Given the description of an element on the screen output the (x, y) to click on. 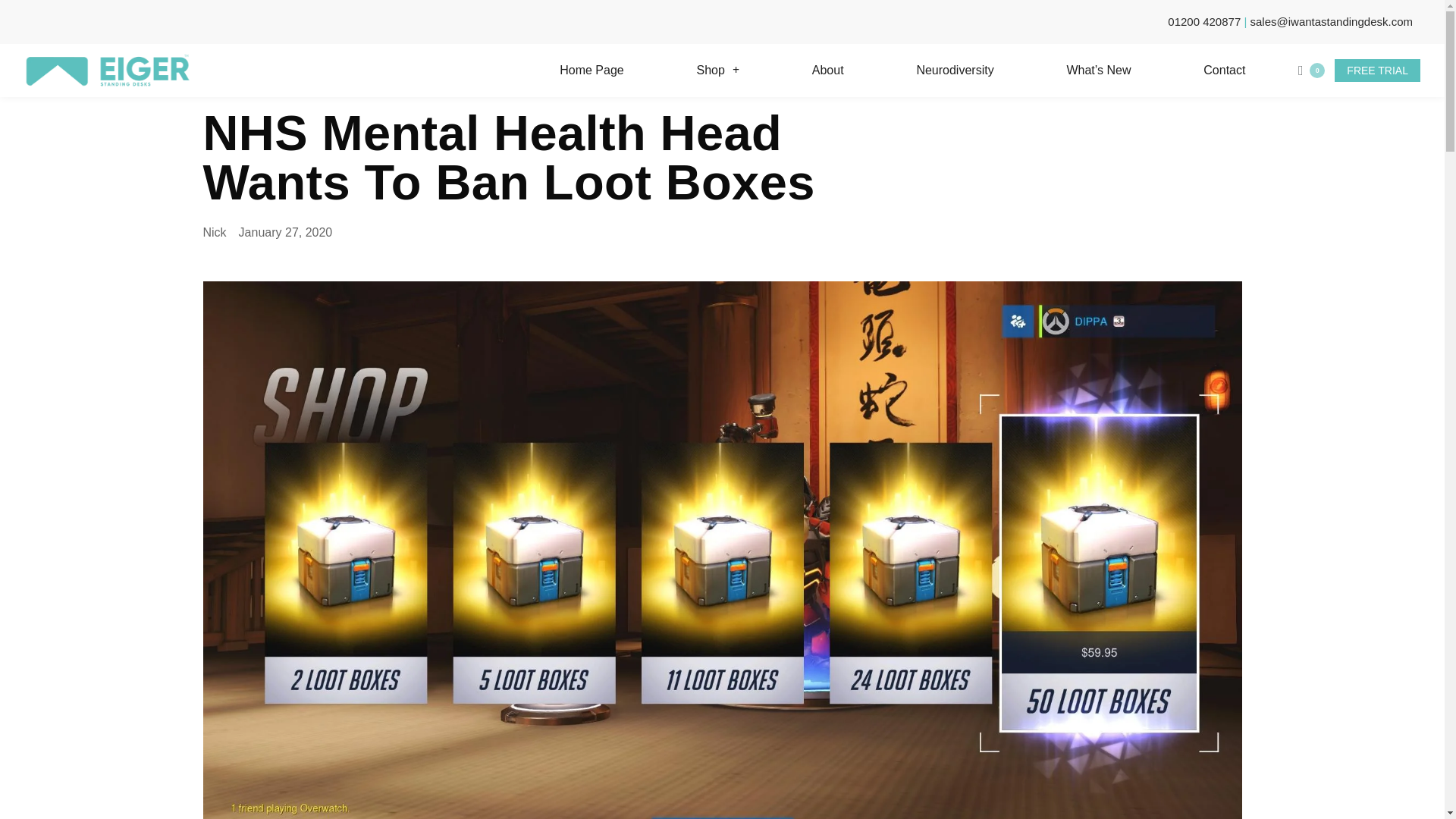
About (828, 70)
Shop (718, 70)
FREE TRIAL (1378, 69)
Neurodiversity (954, 70)
Home Page (590, 70)
Contact (1224, 70)
01200 420877 (1203, 21)
0 (1308, 70)
